Given the description of an element on the screen output the (x, y) to click on. 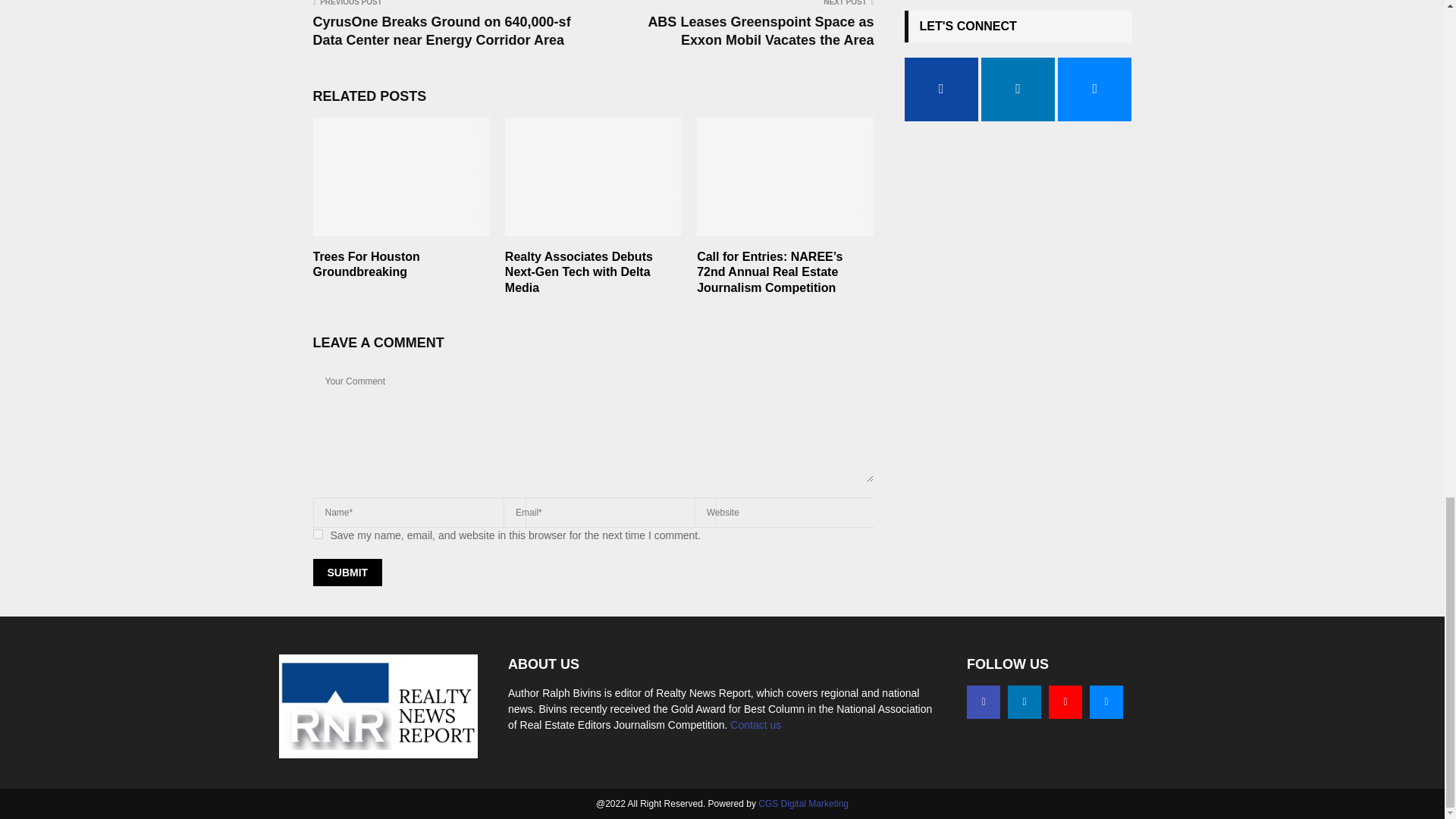
yes (317, 533)
Submit (347, 572)
